Given the description of an element on the screen output the (x, y) to click on. 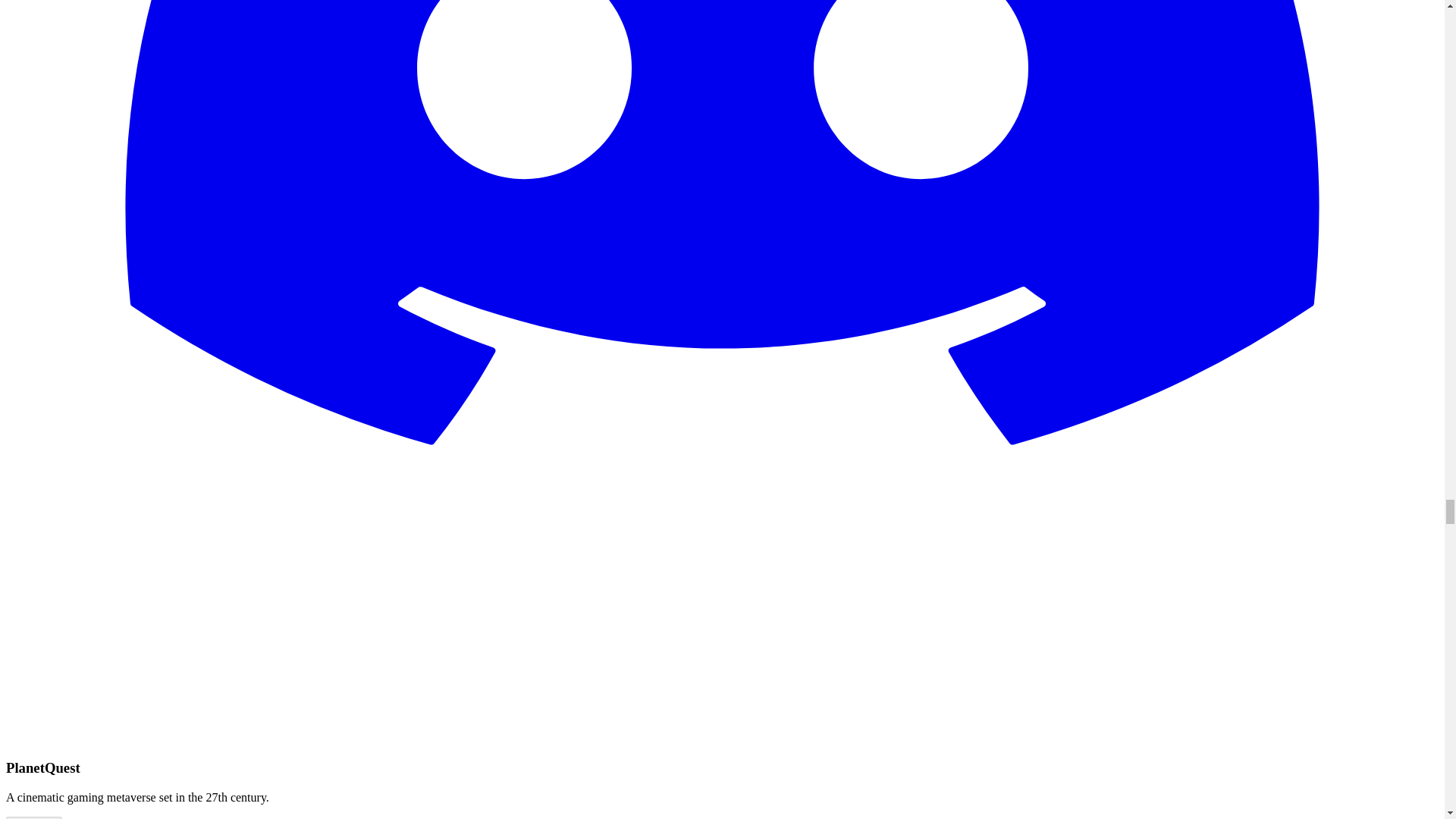
See more (33, 817)
